Given the description of an element on the screen output the (x, y) to click on. 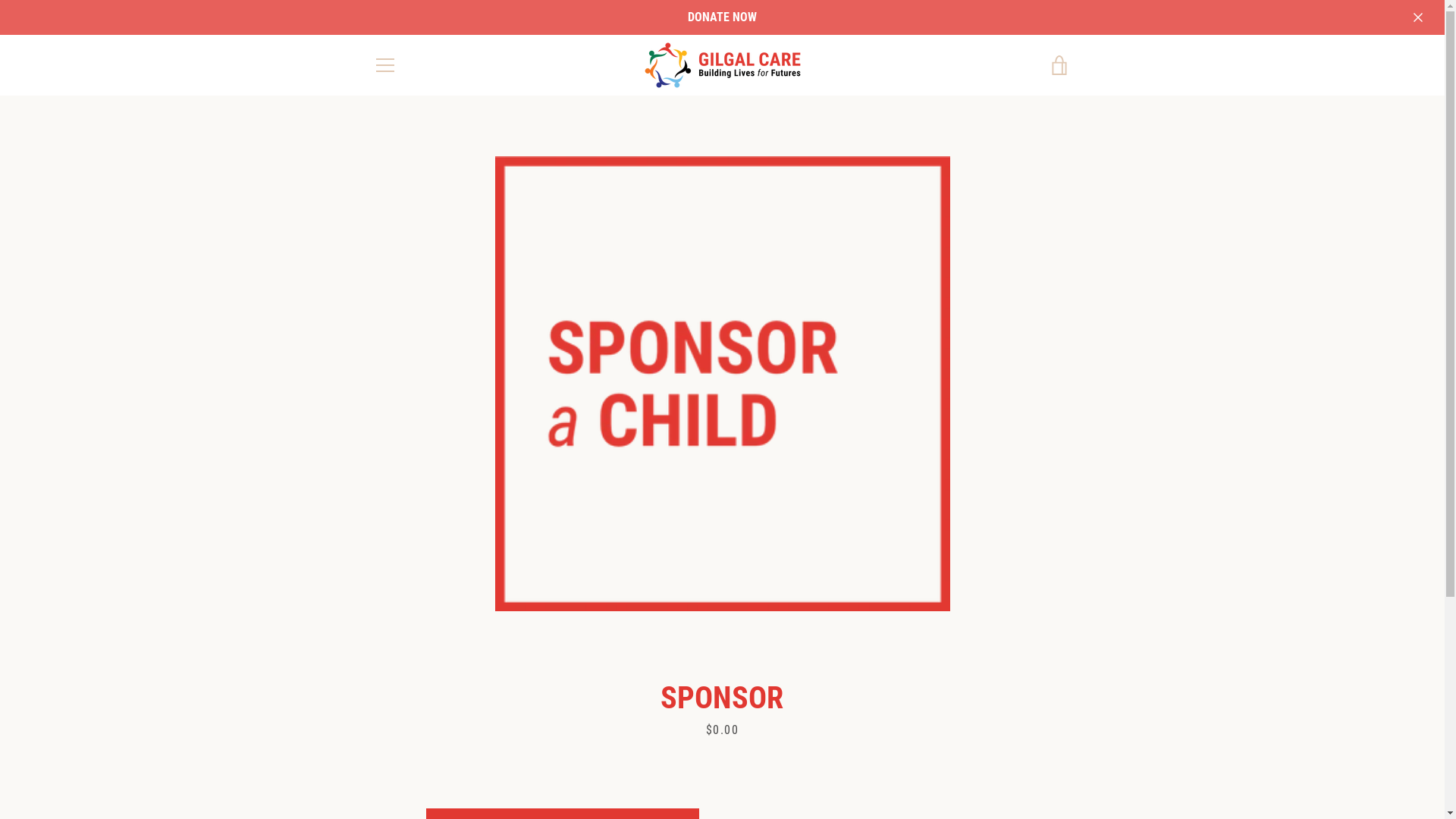
CONTACT US Element type: text (401, 682)
DONATE NOW Element type: text (722, 17)
FUNDRAISING Element type: text (588, 660)
Facebook Element type: text (372, 778)
Skip to content Element type: text (0, 0)
GILGAL CARE Element type: text (955, 778)
SUBSCRIBE Element type: text (1034, 705)
ABOUT US Element type: text (395, 660)
VOLUNTEER Element type: text (585, 704)
VIEW CART Element type: text (1059, 65)
MENU Element type: text (384, 65)
GIFTS IN WILL Element type: text (590, 682)
PRIVACY POLICY Element type: text (410, 704)
